Given the description of an element on the screen output the (x, y) to click on. 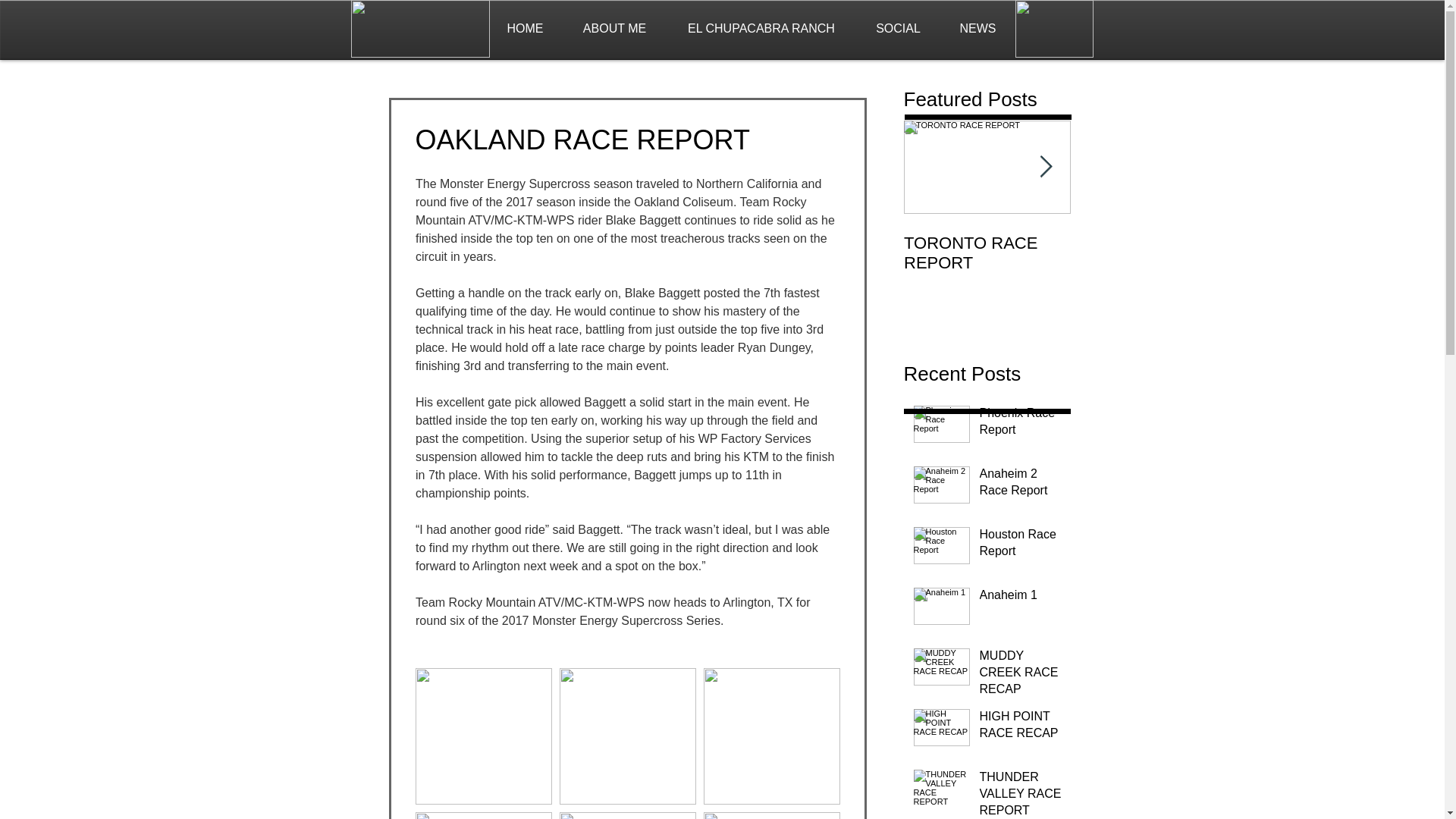
Phoenix Race Report (1020, 424)
MUDDY CREEK RACE RECAP (1020, 675)
Houston Race Report (1020, 546)
Anaheim 1 (1020, 598)
ABOUT ME (613, 28)
SOCIAL (898, 28)
ATLANTA RACE REPORT (1153, 252)
HIGH POINT RACE RECAP (1020, 728)
THUNDER VALLEY RACE REPORT (1020, 794)
EL CHUPACABRA RANCH (760, 28)
HOME (524, 28)
NEWS (978, 28)
TORONTO RACE REPORT (987, 252)
Anaheim 2 Race Report (1020, 486)
